Given the description of an element on the screen output the (x, y) to click on. 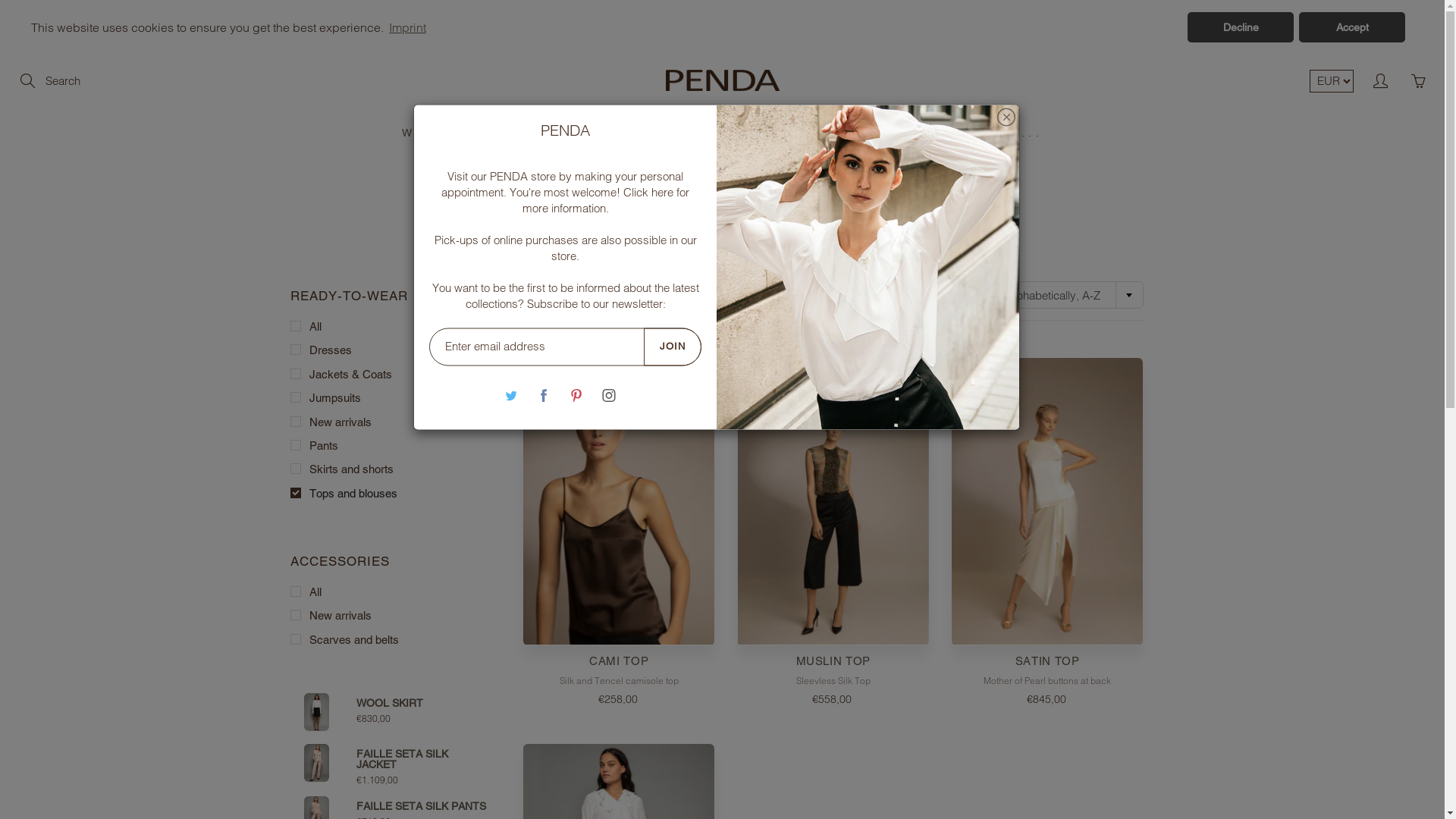
My account Element type: text (1379, 80)
New arrivals Element type: text (389, 421)
FAILLE SETA SILK JACKET Element type: text (422, 758)
Instagram Element type: hover (609, 395)
Imprint Element type: text (407, 26)
Decline Element type: text (1240, 27)
Scarves and belts Element type: text (389, 639)
Click here Element type: text (648, 192)
Jumpsuits Element type: text (389, 397)
JOIN Element type: text (672, 346)
New arrivals Element type: text (389, 615)
MAISON Element type: text (701, 132)
Products Element type: text (696, 225)
WOOL SKIRT Element type: text (389, 702)
Pinterest Element type: hover (575, 395)
Skirts and shorts Element type: text (389, 468)
Jackets & Coats Element type: text (389, 374)
PENDA'S WORLD Element type: text (859, 132)
P IS ... Element type: text (1009, 132)
PENDA store Element type: text (522, 176)
Tops and blouses Element type: text (389, 493)
All Element type: text (389, 591)
CAMPAIGN Element type: text (569, 132)
Search Element type: text (28, 80)
You have 0 items in your cart Element type: text (1417, 80)
Home Element type: text (645, 225)
Facebook Element type: hover (543, 395)
All Element type: text (389, 326)
WOMEN Element type: text (439, 132)
FAILLE SETA SILK PANTS Element type: text (421, 805)
Pants Element type: text (389, 445)
Twitter Element type: hover (510, 395)
Accept Element type: text (1352, 27)
Dresses Element type: text (389, 349)
